Given the description of an element on the screen output the (x, y) to click on. 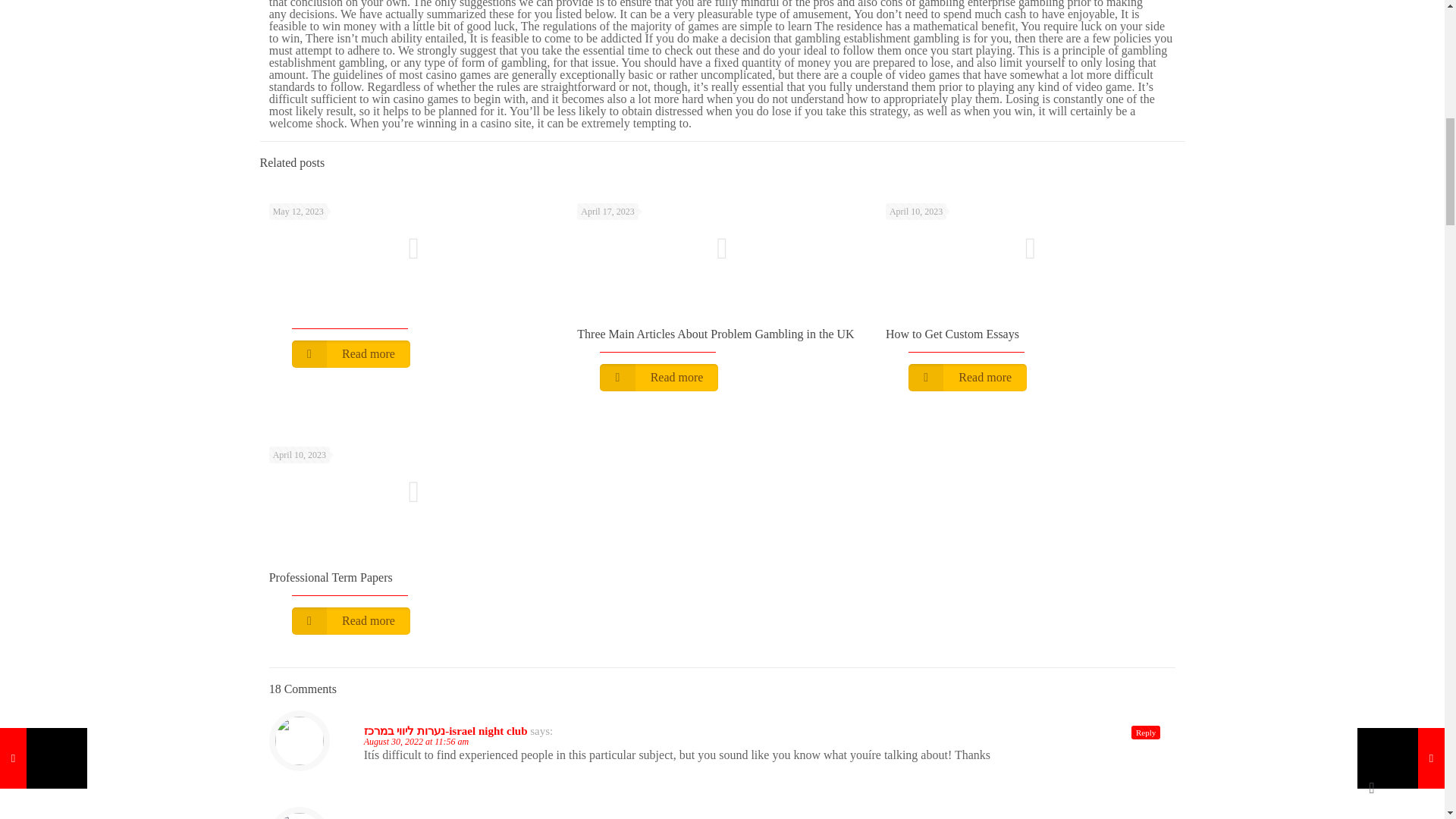
Professional Term Papers (331, 576)
Read more (351, 353)
How to Get Custom Essays (952, 333)
Three Main Articles About Problem Gambling in the UK (714, 333)
Read more (658, 377)
August 30, 2022 at 11:56 am (416, 741)
Read more (351, 620)
Reply (1145, 732)
Read more (967, 377)
